Given the description of an element on the screen output the (x, y) to click on. 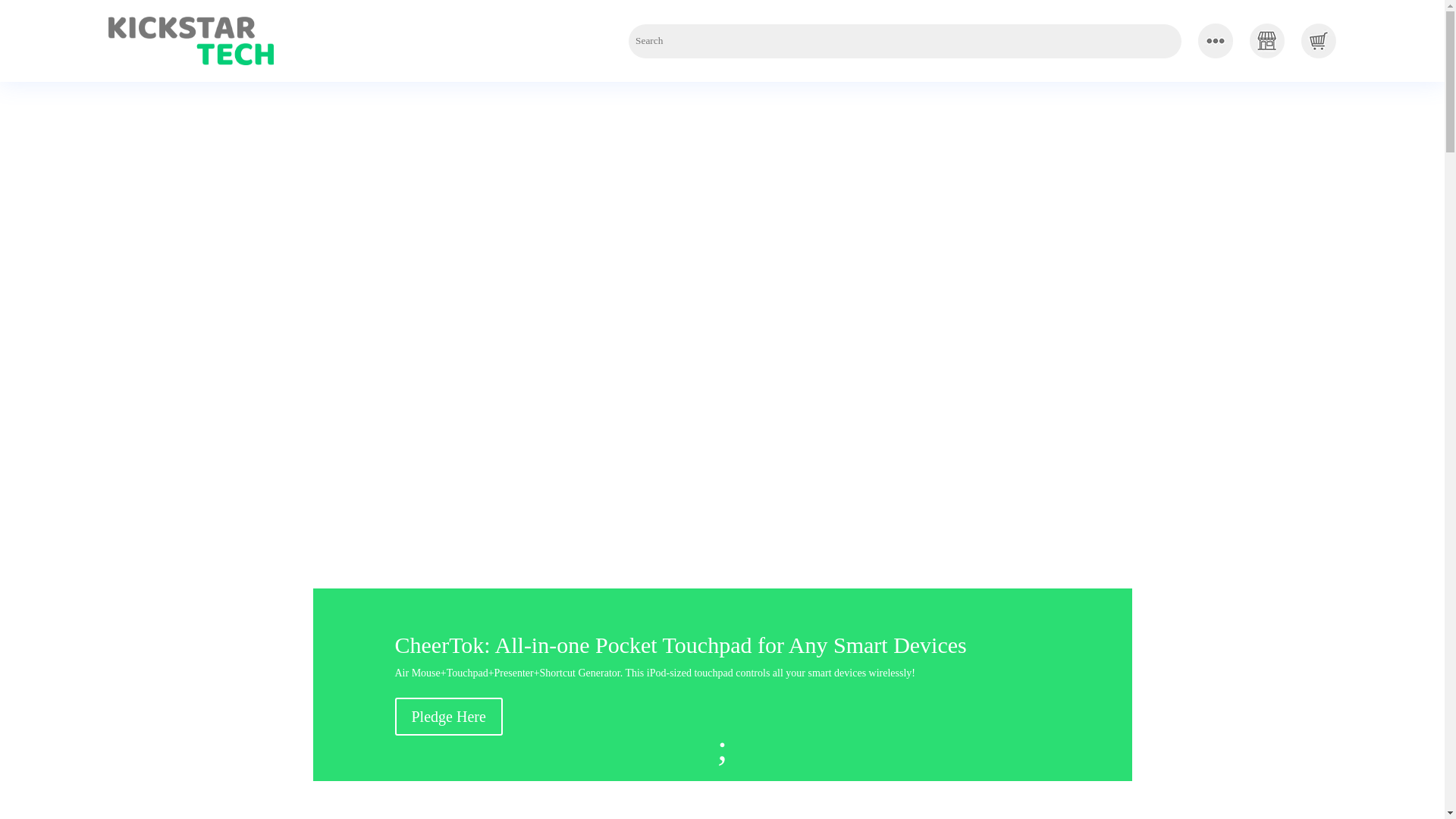
SEARCH FOR: (905, 40)
Pledge Here (448, 716)
; (722, 751)
